Given the description of an element on the screen output the (x, y) to click on. 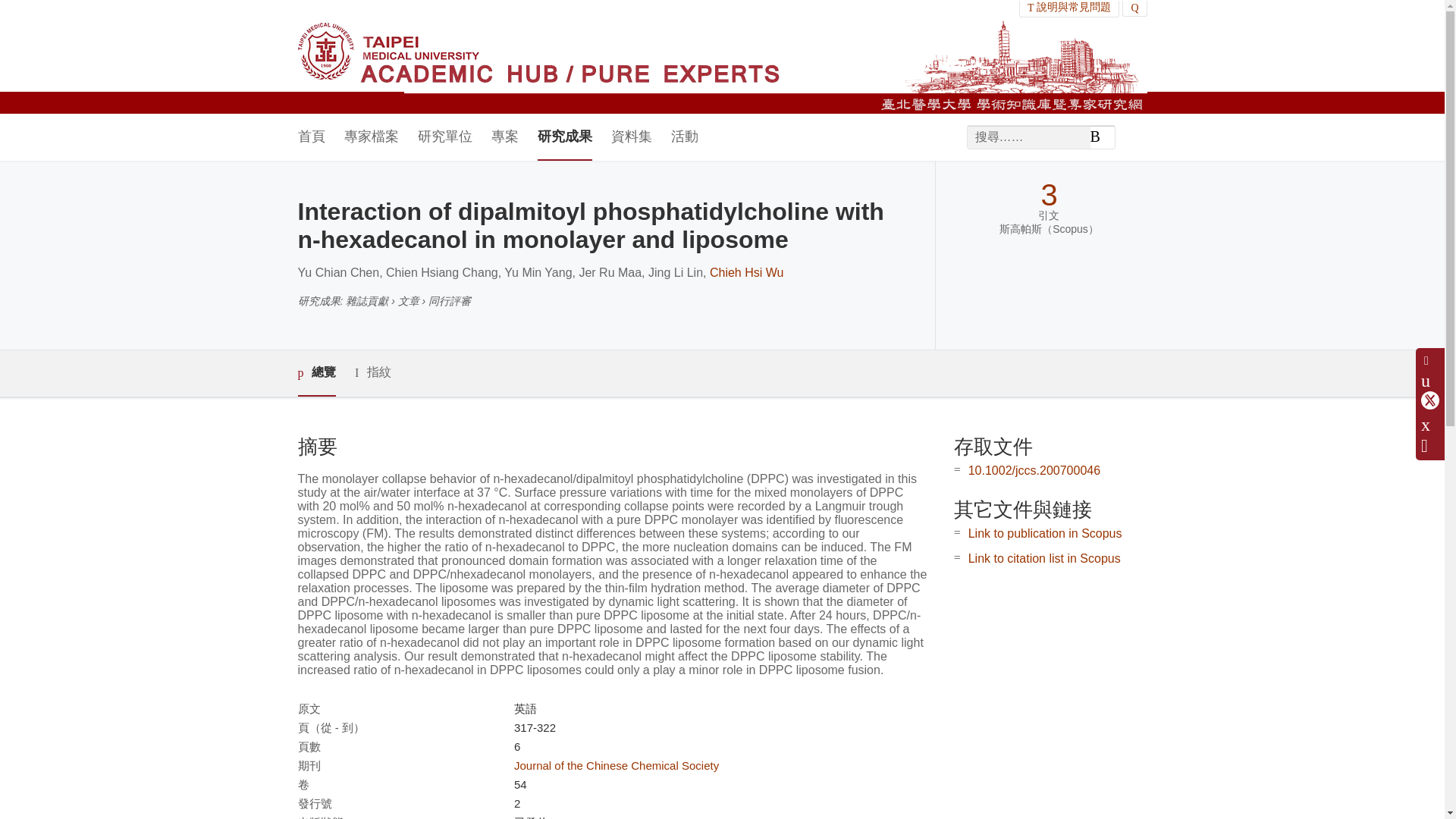
Chieh Hsi Wu (747, 272)
Link to publication in Scopus (1045, 533)
Link to citation list in Scopus (1044, 558)
Journal of the Chinese Chemical Society (616, 765)
